Given the description of an element on the screen output the (x, y) to click on. 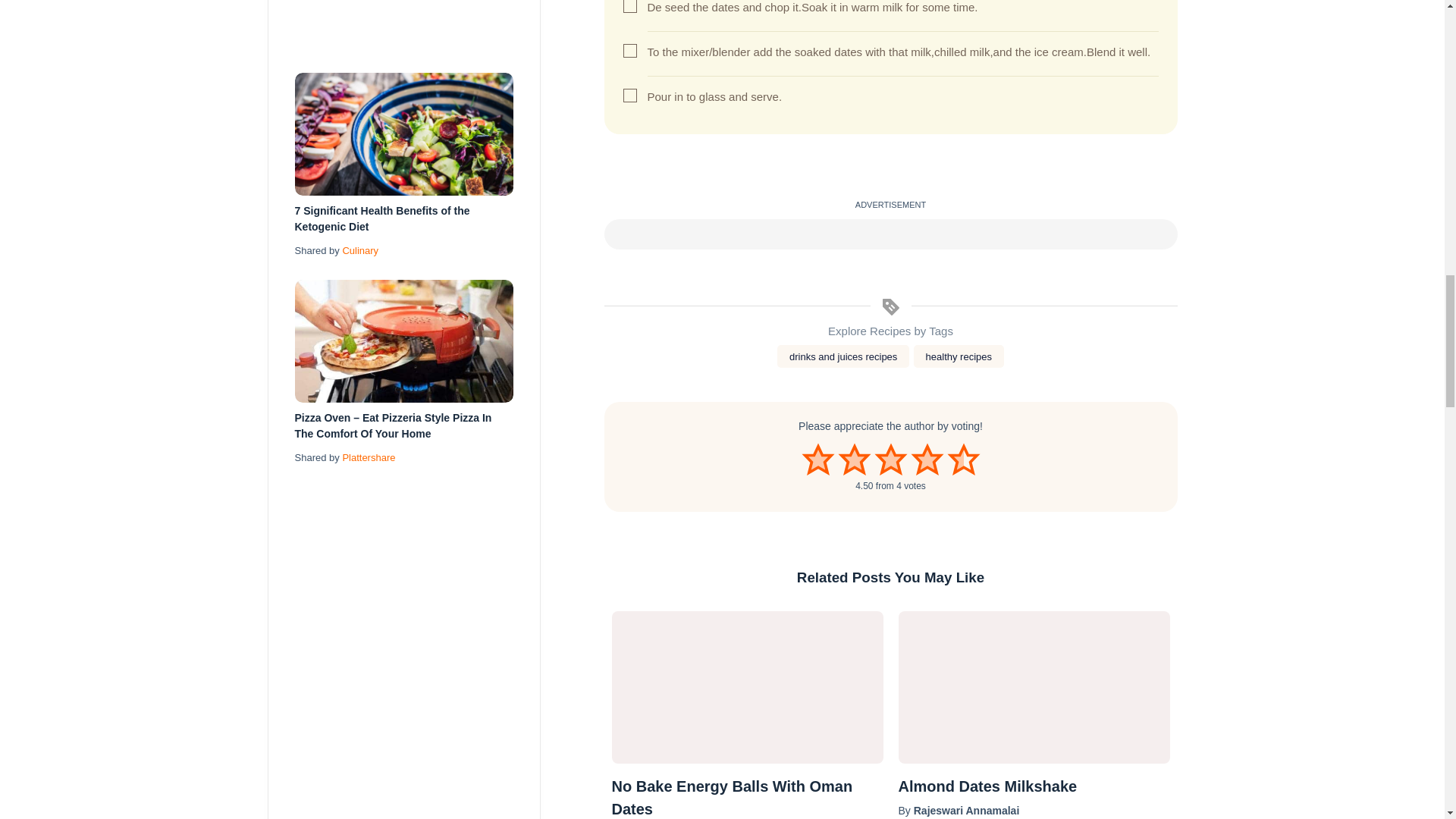
No Bake Energy Balls With Oman Dates (746, 796)
Almond Dates Milkshake (1033, 686)
Almond Dates Milkshake (1033, 785)
No Bake Energy Balls With Oman Dates (746, 686)
